Given the description of an element on the screen output the (x, y) to click on. 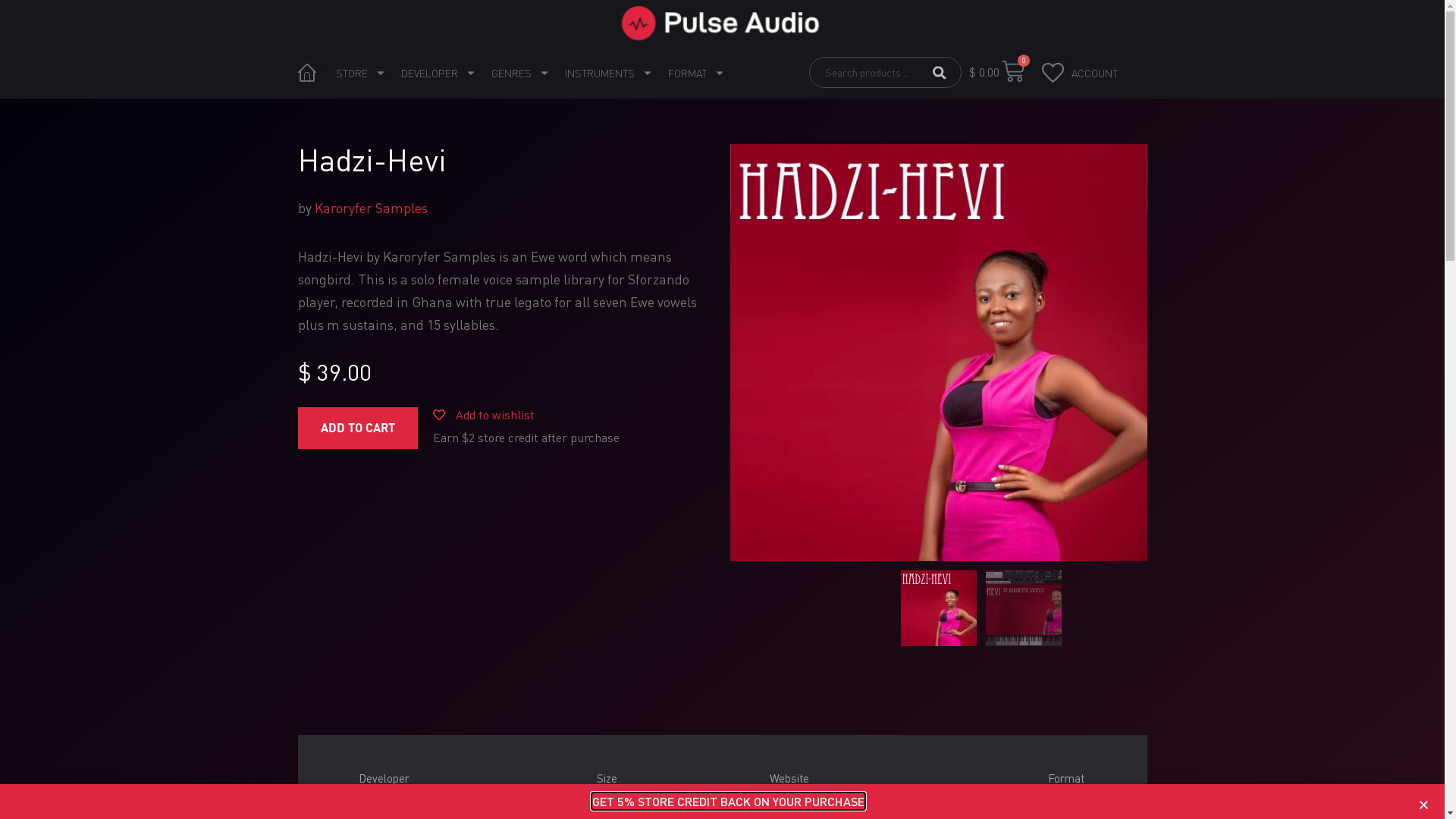
FORMAT Element type: text (695, 71)
ACCOUNT Element type: text (1094, 71)
PULSE AUDIO Element type: text (304, 71)
https://shop.karoryfer.com/ Element type: text (836, 806)
DEVELOPER Element type: text (437, 71)
ADD TO CART Element type: text (357, 427)
Karoryfer Samples Element type: text (404, 806)
GET 5% STORE CREDIT BACK ON YOUR PURCHASE Element type: text (727, 801)
hadzihevi_square_1024x1024@2x Element type: hover (937, 352)
Karoryfer Samples Element type: text (369, 207)
Add to wishlist Element type: text (482, 414)
GENRES Element type: text (520, 71)
STORE Element type: text (359, 71)
$ 0.00
0 Element type: text (996, 72)
INSTRUMENTS Element type: text (607, 71)
